Given the description of an element on the screen output the (x, y) to click on. 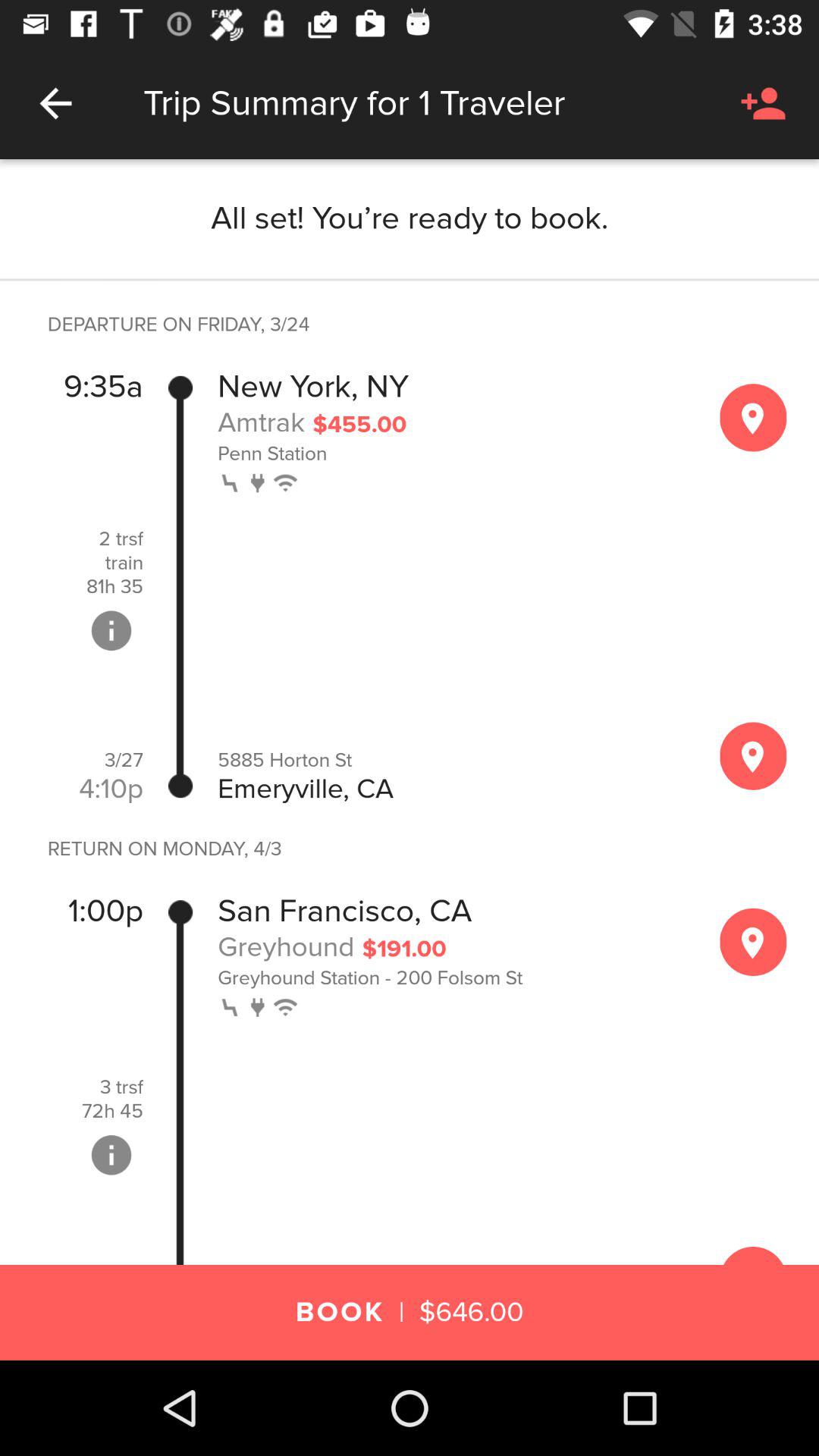
see map of area (753, 755)
